Given the description of an element on the screen output the (x, y) to click on. 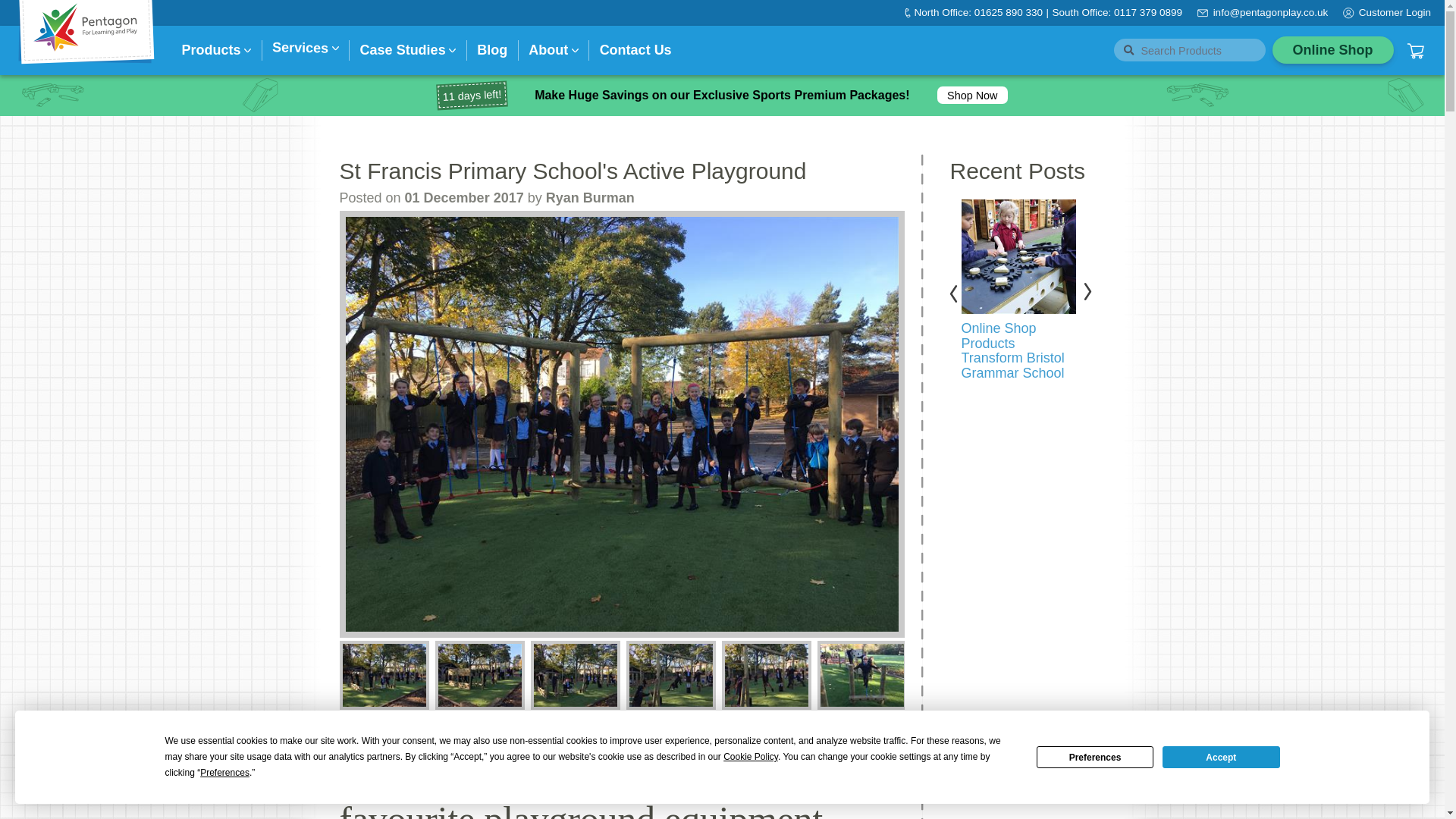
Timber Canopies (247, 212)
Early Years Furniture (987, 248)
Construction Play (515, 212)
Mud, Sand, and Water Play (536, 212)
Performance Stages (522, 212)
Play Castles (362, 212)
North Office: 01625 890 330 (978, 12)
Freestanding Active Play (391, 212)
Themed Play (507, 212)
Products (211, 50)
Bespoke Treehouses (381, 212)
Towers (349, 212)
Sport (742, 243)
Landscaping (645, 212)
Playground Lodges (255, 212)
